Given the description of an element on the screen output the (x, y) to click on. 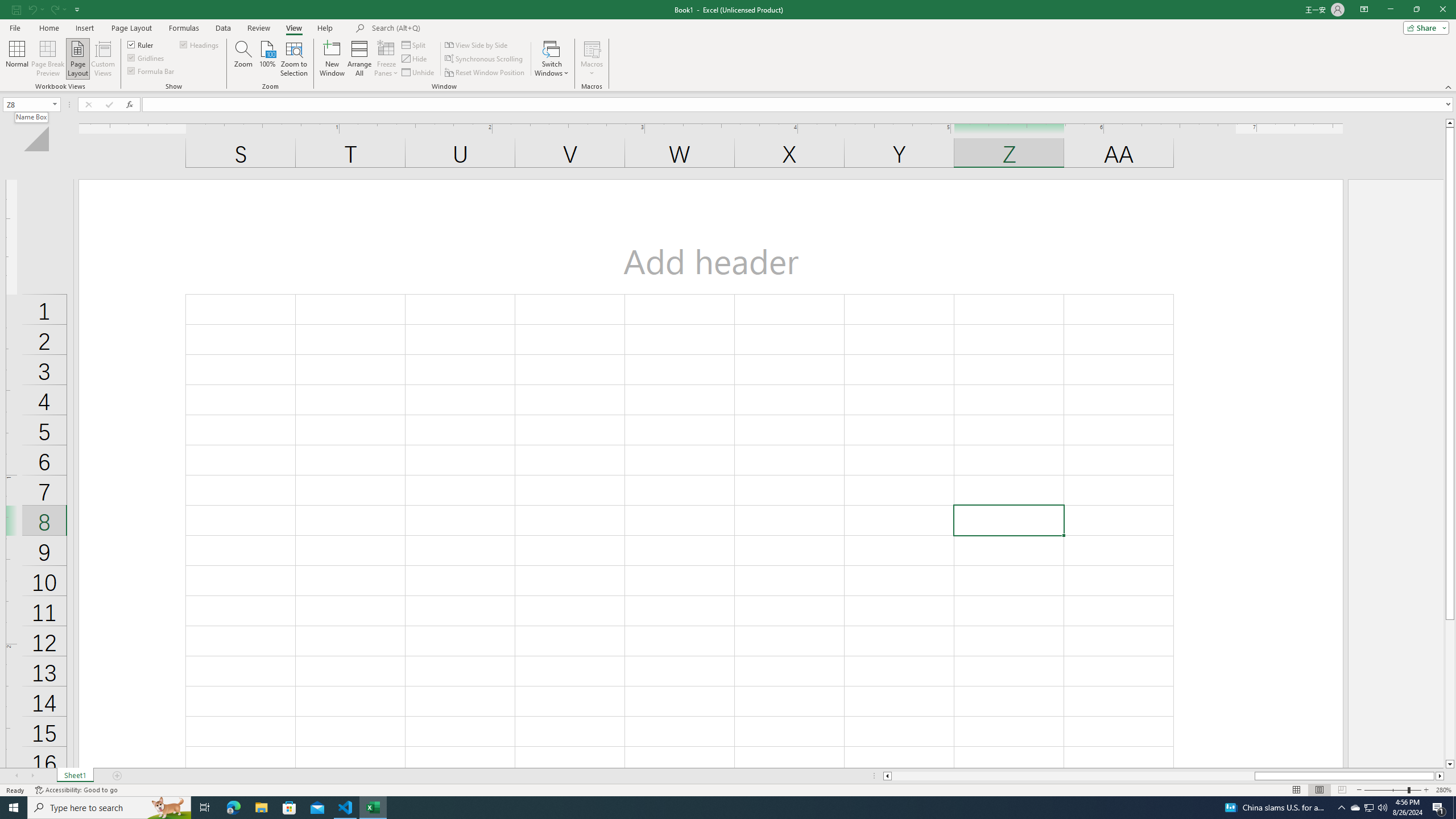
Arrange All (359, 58)
View Macros (591, 48)
Zoom... (242, 58)
Split (414, 44)
Custom Views... (103, 58)
Headings (199, 44)
